Given the description of an element on the screen output the (x, y) to click on. 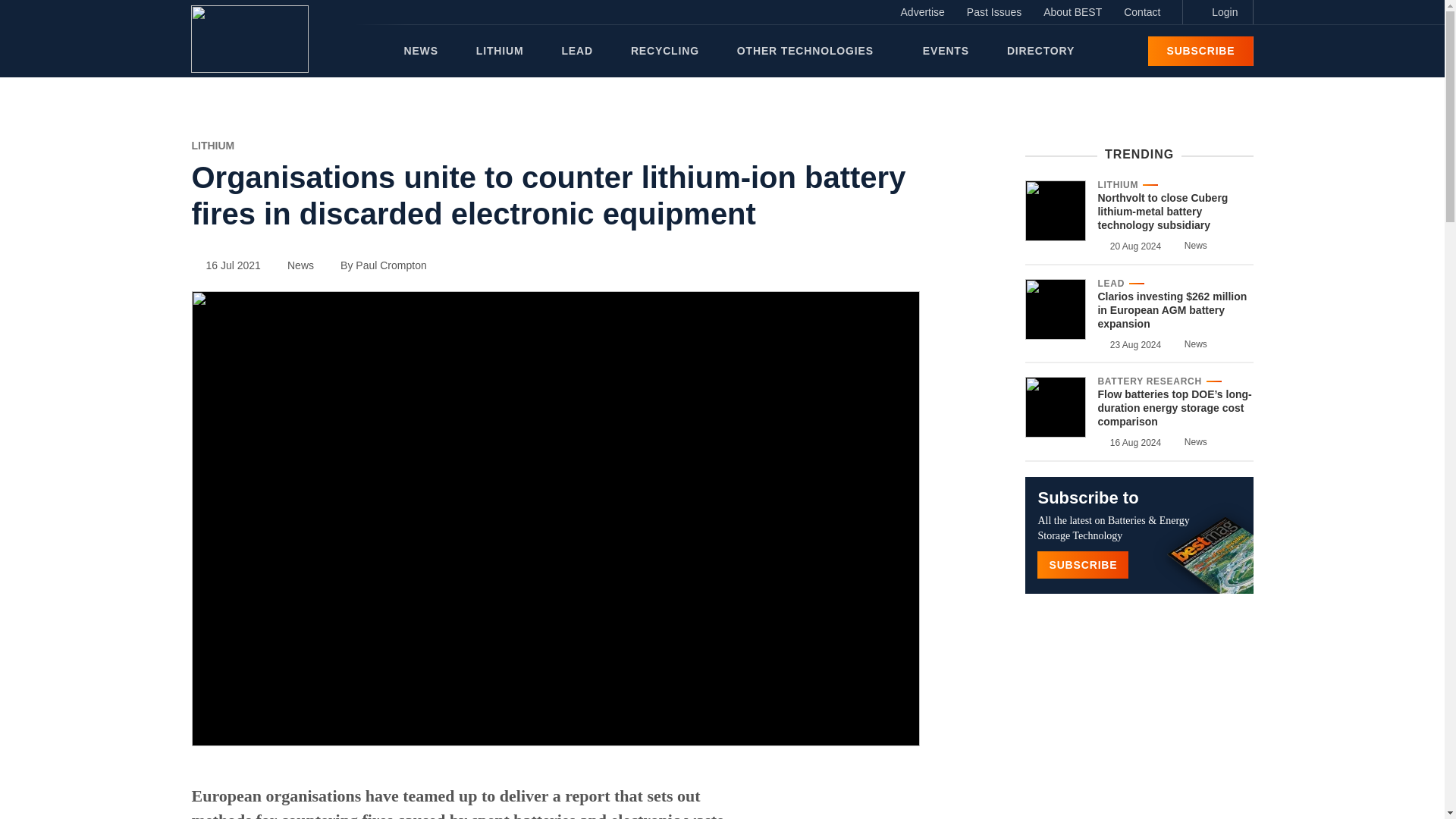
NEWS (420, 50)
RECYCLING (664, 50)
DIRECTORY (1039, 50)
LITHIUM (499, 50)
OTHER TECHNOLOGIES (810, 50)
News (293, 265)
About BEST (1072, 12)
By Paul Crompton (376, 265)
SUBSCRIBE (1200, 51)
LITHIUM (212, 145)
